Given the description of an element on the screen output the (x, y) to click on. 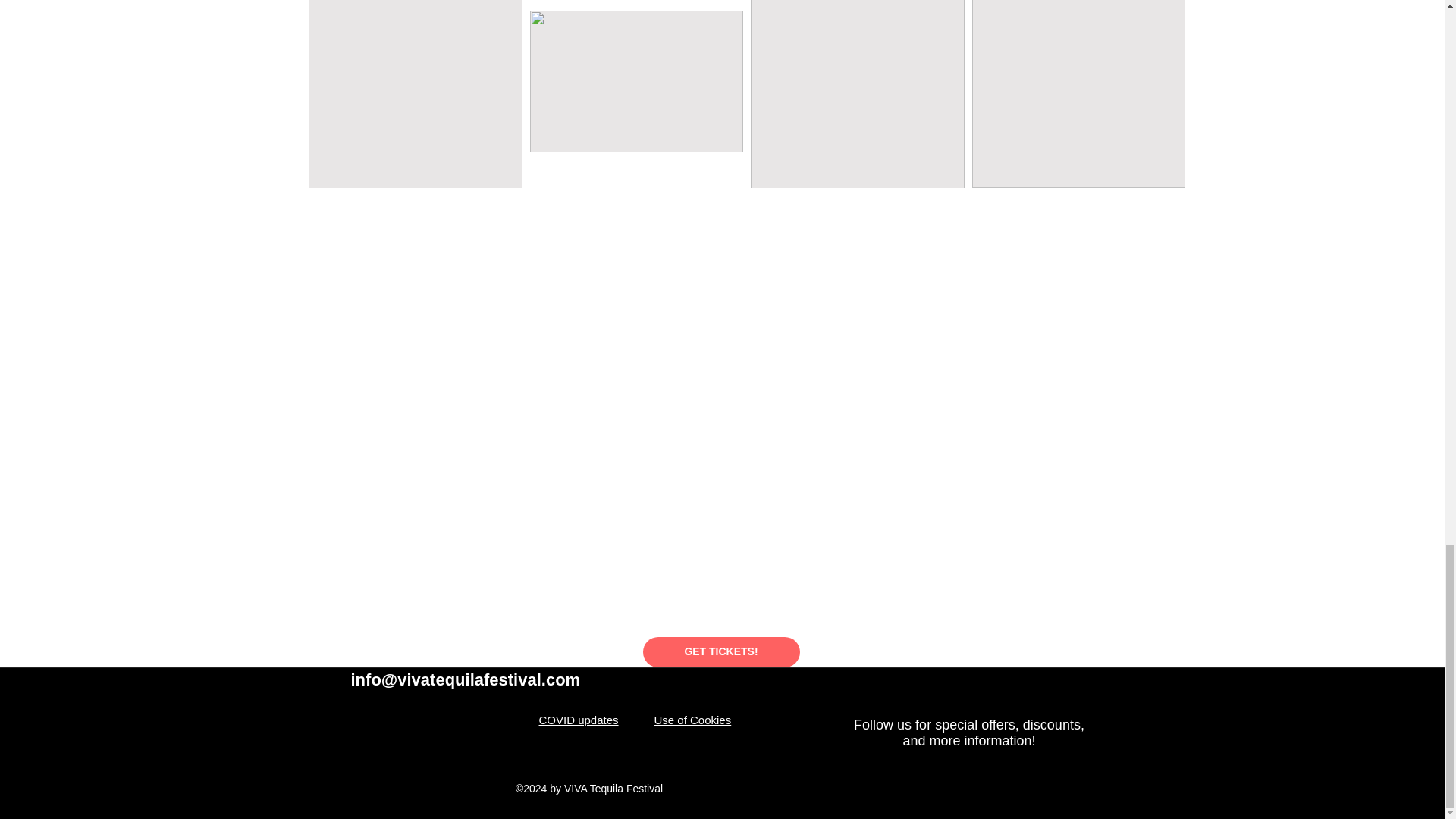
COVID updates (577, 719)
Use of Cookies (691, 719)
GET TICKETS! (721, 652)
